Given the description of an element on the screen output the (x, y) to click on. 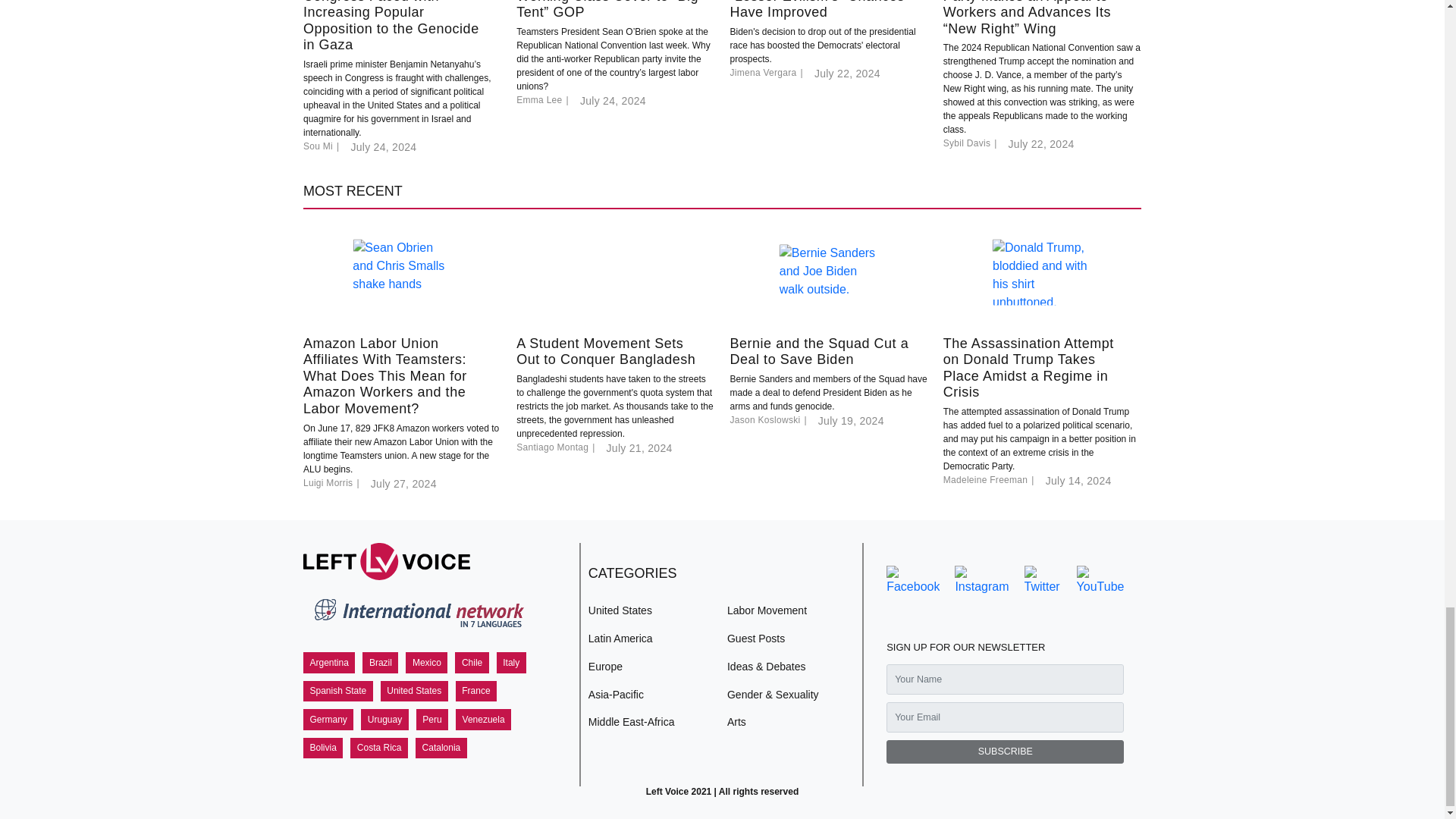
Left Voice (386, 561)
International Network (417, 616)
